Given the description of an element on the screen output the (x, y) to click on. 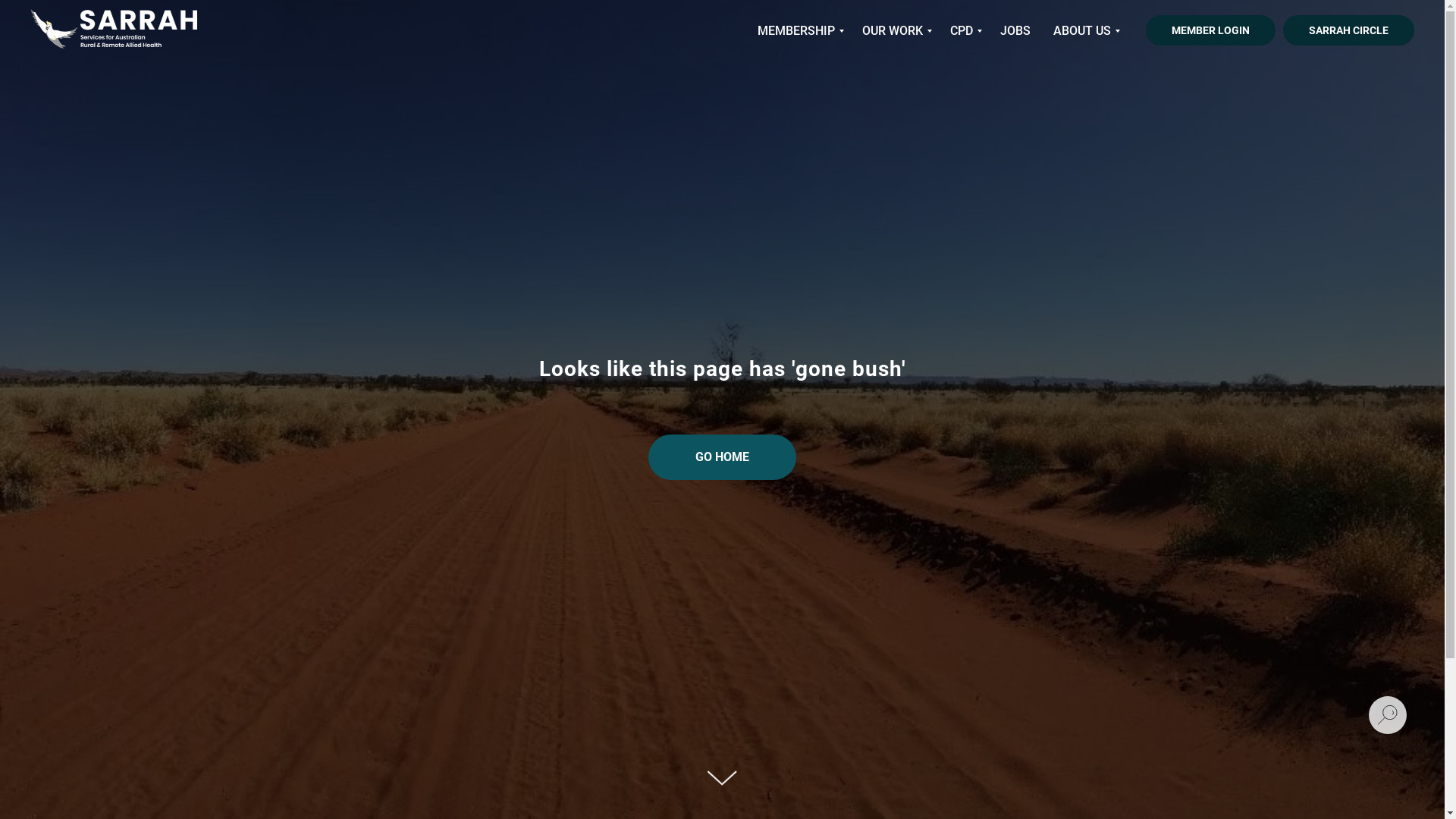
CPD Element type: text (963, 29)
MEMBER LOGIN Element type: text (1210, 30)
ABOUT US Element type: text (1084, 29)
SARRAH CIRCLE Element type: text (1348, 30)
MEMBERSHIP Element type: text (798, 29)
GO HOME Element type: text (722, 457)
JOBS Element type: text (1015, 29)
OUR WORK Element type: text (894, 29)
